Given the description of an element on the screen output the (x, y) to click on. 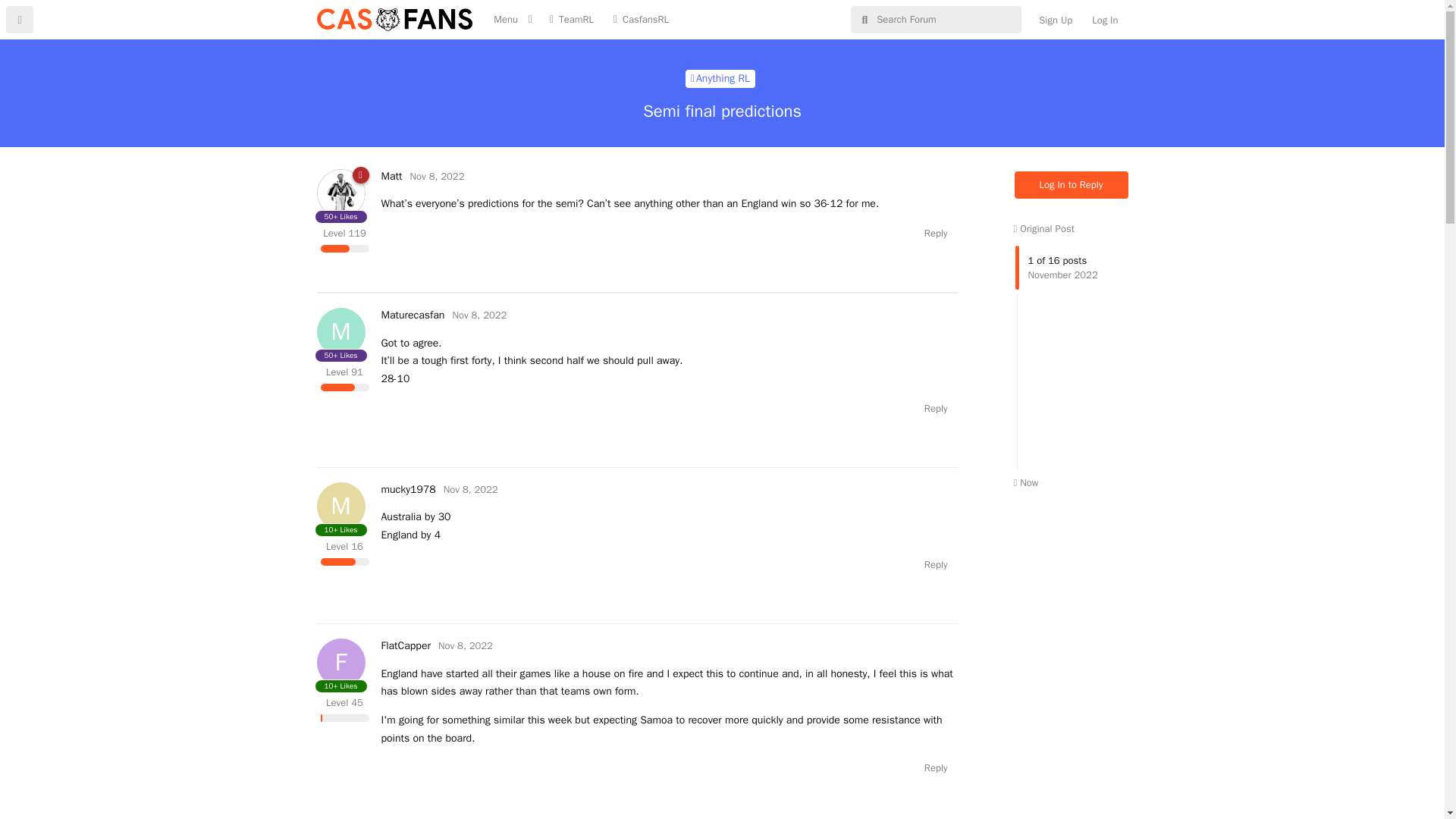
Nov 8, 2022 (478, 314)
Tuesday, November 8, 2022 3:01 AM (436, 175)
Now (1025, 481)
Reply (412, 314)
Matt (936, 408)
Anything RL (390, 175)
Log In to Reply (720, 78)
Nov 8, 2022 (1071, 185)
Reply (436, 175)
Nov 8, 2022 (936, 564)
Anything else to do with Rugby League (465, 645)
Sign Up (720, 78)
TeamRL (404, 645)
